Given the description of an element on the screen output the (x, y) to click on. 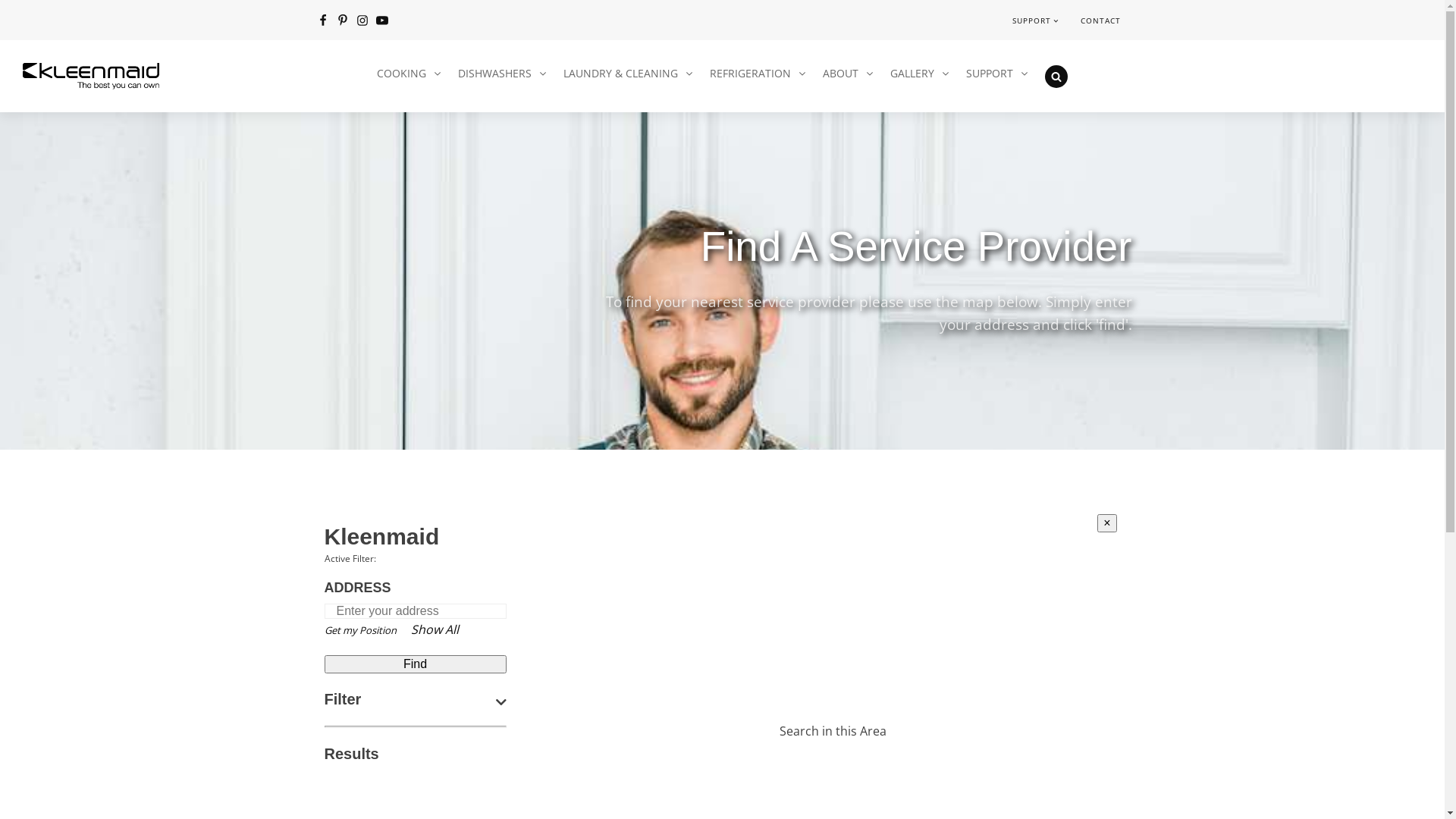
DISHWASHERS Element type: text (502, 73)
GALLERY Element type: text (920, 73)
SUPPORT Element type: text (997, 73)
Get my Position Element type: text (360, 630)
COOKING Element type: text (409, 73)
Find Element type: text (415, 664)
REFRIGERATION Element type: text (758, 73)
Show All Element type: text (434, 629)
ABOUT Element type: text (848, 73)
LAUNDRY & CLEANING Element type: text (628, 73)
CONTACT Element type: text (1100, 20)
SUPPORT Element type: text (1035, 20)
